Given the description of an element on the screen output the (x, y) to click on. 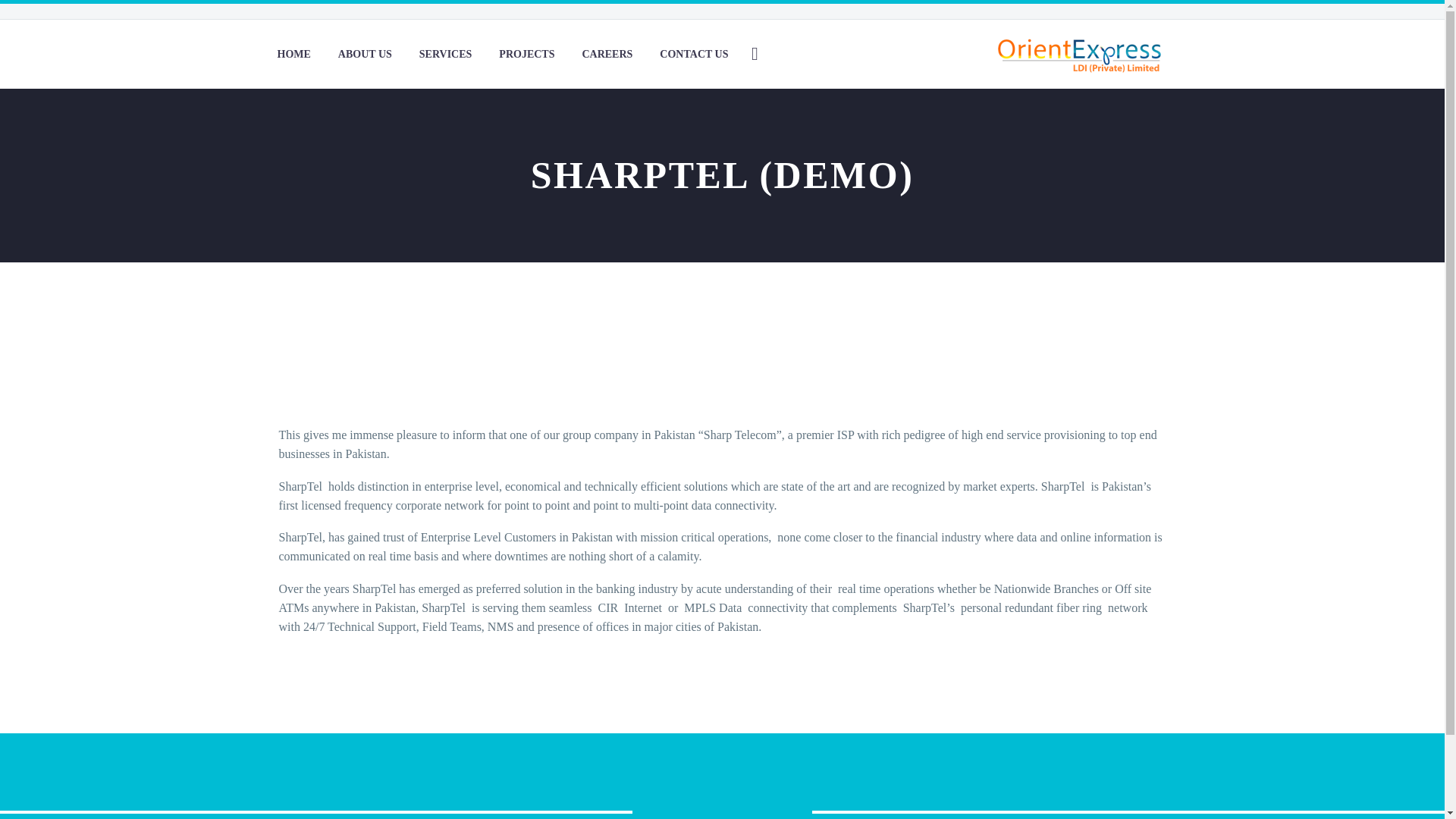
ABOUT US (364, 54)
CAREERS (606, 54)
HOME (292, 54)
PROJECTS (526, 54)
SERVICES (445, 54)
CONTACT US (693, 54)
